Given the description of an element on the screen output the (x, y) to click on. 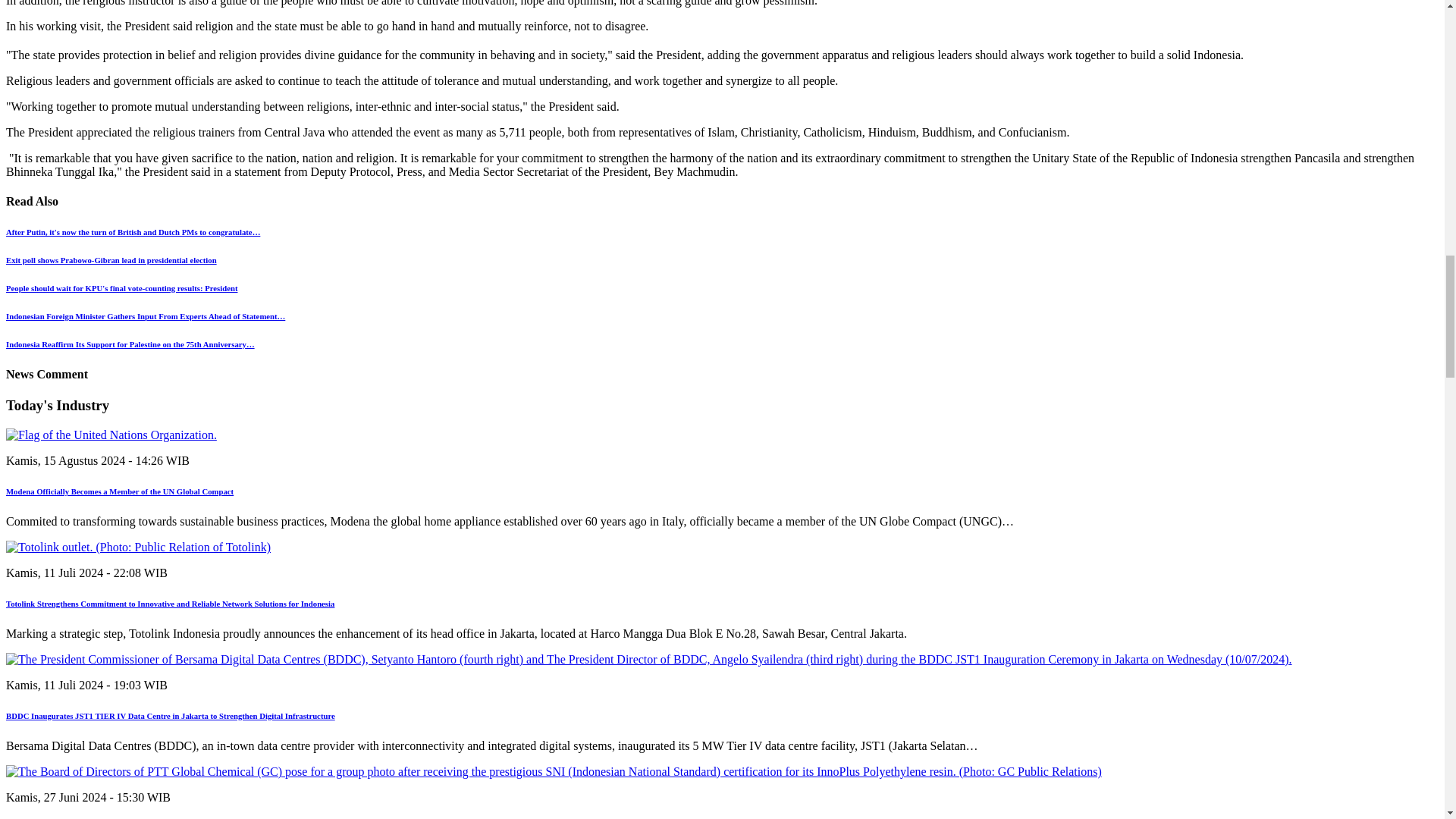
Exit poll shows Prabowo-Gibran lead in presidential election (110, 259)
